Given the description of an element on the screen output the (x, y) to click on. 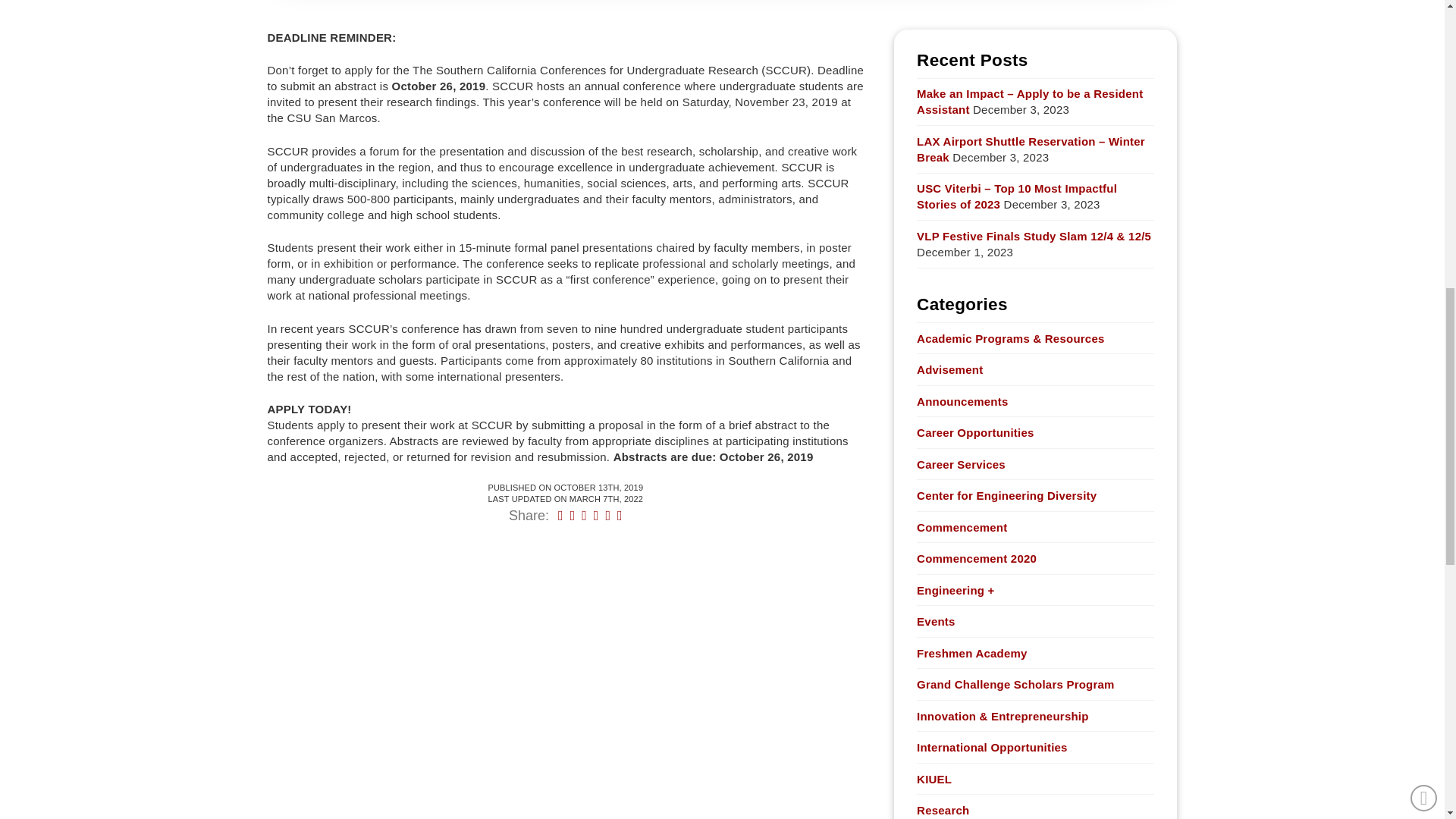
Commencement 2020 (976, 558)
Career Services (961, 464)
Center for Engineering Diversity (1006, 495)
Announcements (962, 401)
Events (936, 621)
Advisement (949, 369)
Grand Challenge Scholars Program (1016, 684)
Career Opportunities (975, 432)
KIUEL (934, 779)
International Opportunities (992, 747)
Commencement (962, 527)
Research (943, 810)
Freshmen Academy (972, 652)
